Given the description of an element on the screen output the (x, y) to click on. 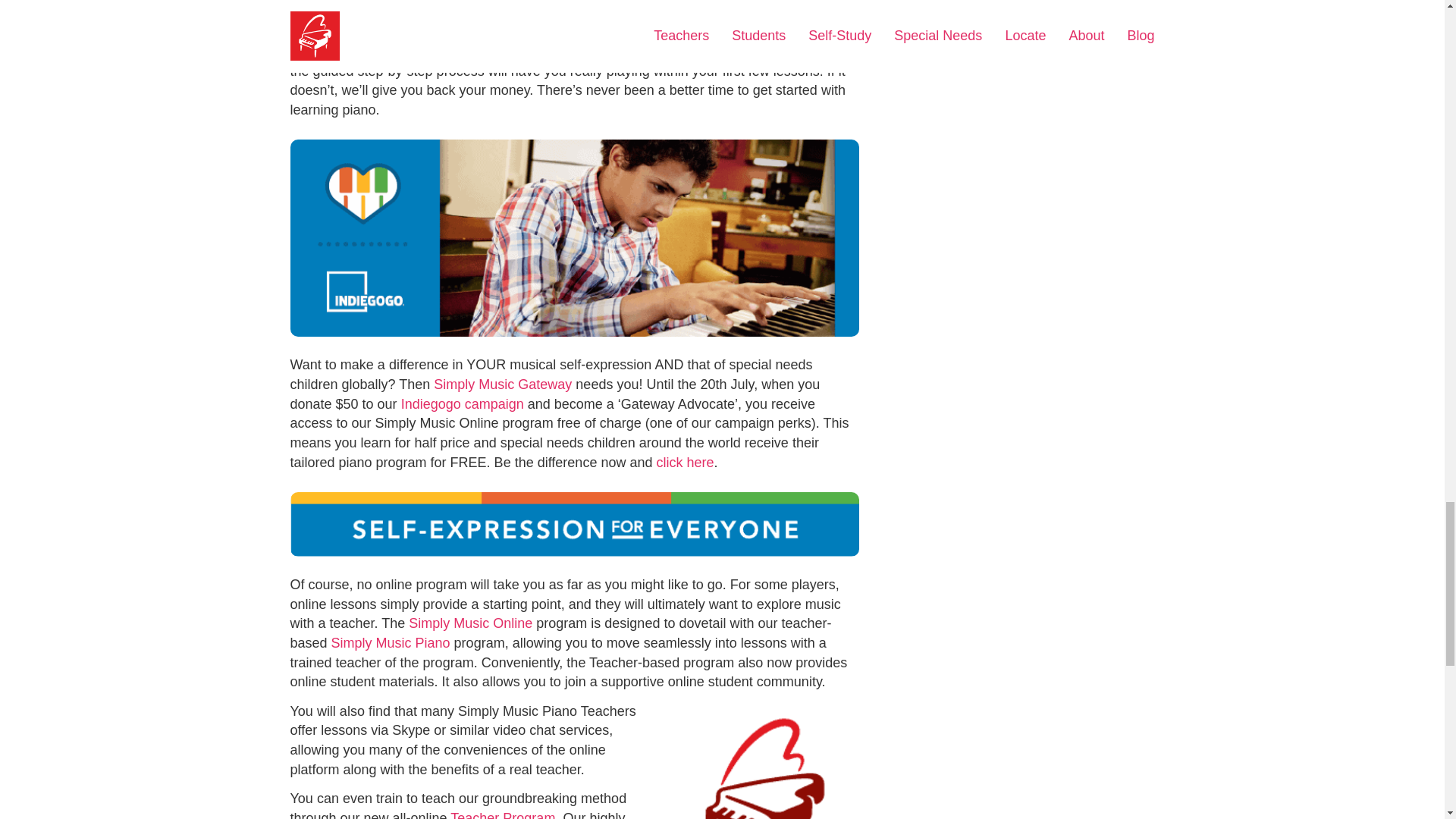
Teacher Program (501, 814)
Simply Music Piano (390, 642)
Simply Music Online (431, 31)
Simply Music Online (470, 622)
Simply Music Gateway (502, 384)
click here (684, 462)
Indiegogo campaign (462, 403)
